Given the description of an element on the screen output the (x, y) to click on. 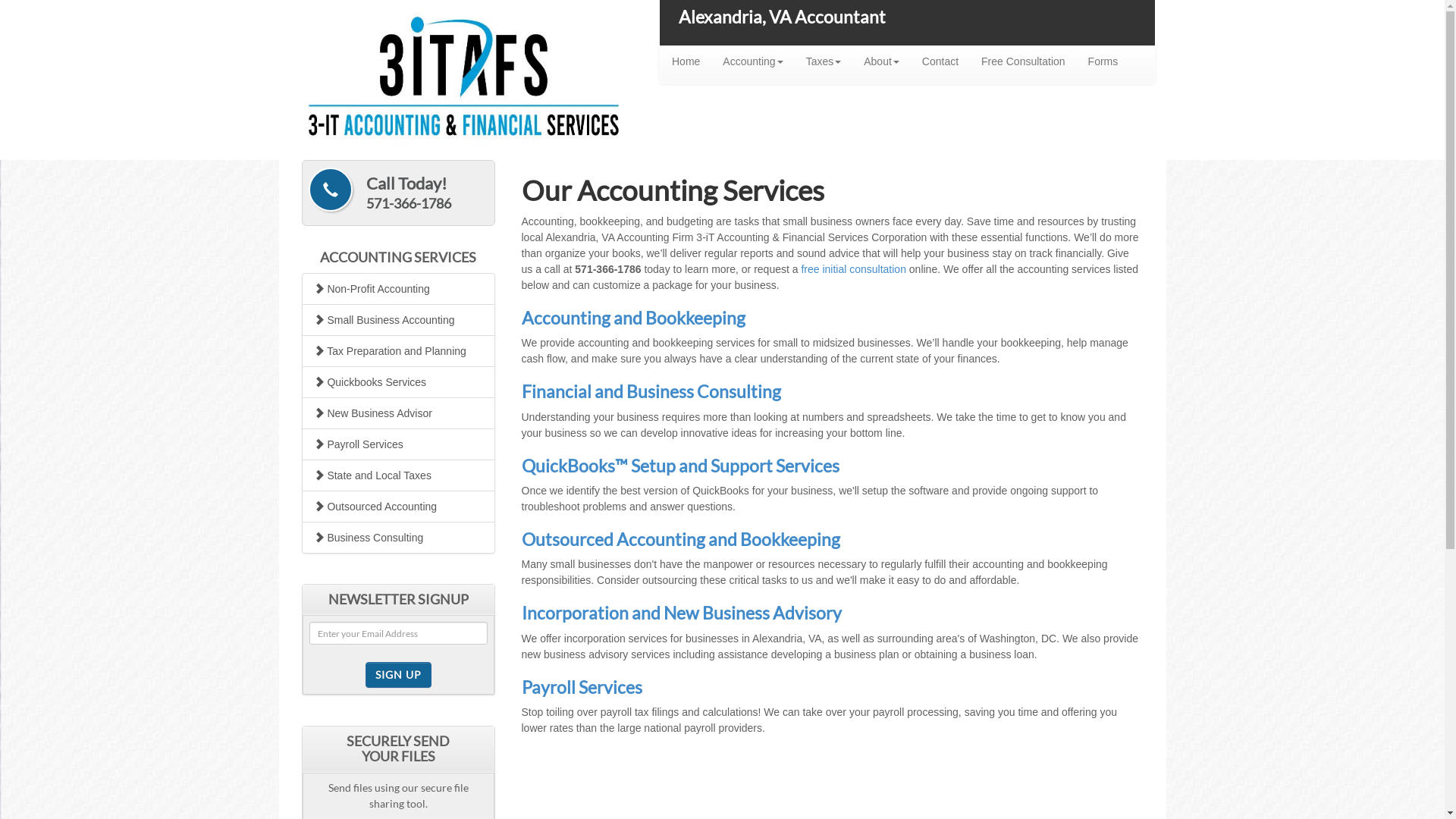
Quickbooks Services Element type: text (398, 382)
Small Business Accounting Element type: text (398, 319)
Payroll Services Element type: text (398, 444)
New Business Advisor Element type: text (398, 413)
About Element type: text (881, 61)
Tax Preparation and Planning Element type: text (398, 351)
Payroll Services Element type: text (581, 686)
Forms Element type: text (1102, 61)
Incorporation and New Business Advisory Element type: text (681, 612)
Taxes Element type: text (823, 61)
Home Element type: text (685, 61)
free initial consultation Element type: text (853, 269)
Accounting and Bookkeeping Element type: text (633, 317)
Accounting Element type: text (752, 61)
Contact Element type: text (939, 61)
Financial and Business Consulting Element type: text (651, 390)
Outsourced Accounting Element type: text (398, 506)
Outsourced Accounting and Bookkeeping Element type: text (680, 538)
SIGN UP Element type: text (398, 674)
Business Consulting Element type: text (398, 537)
Free Consultation Element type: text (1022, 61)
 Non-Profit Accounting Element type: text (398, 288)
State and Local Taxes Element type: text (398, 475)
